Given the description of an element on the screen output the (x, y) to click on. 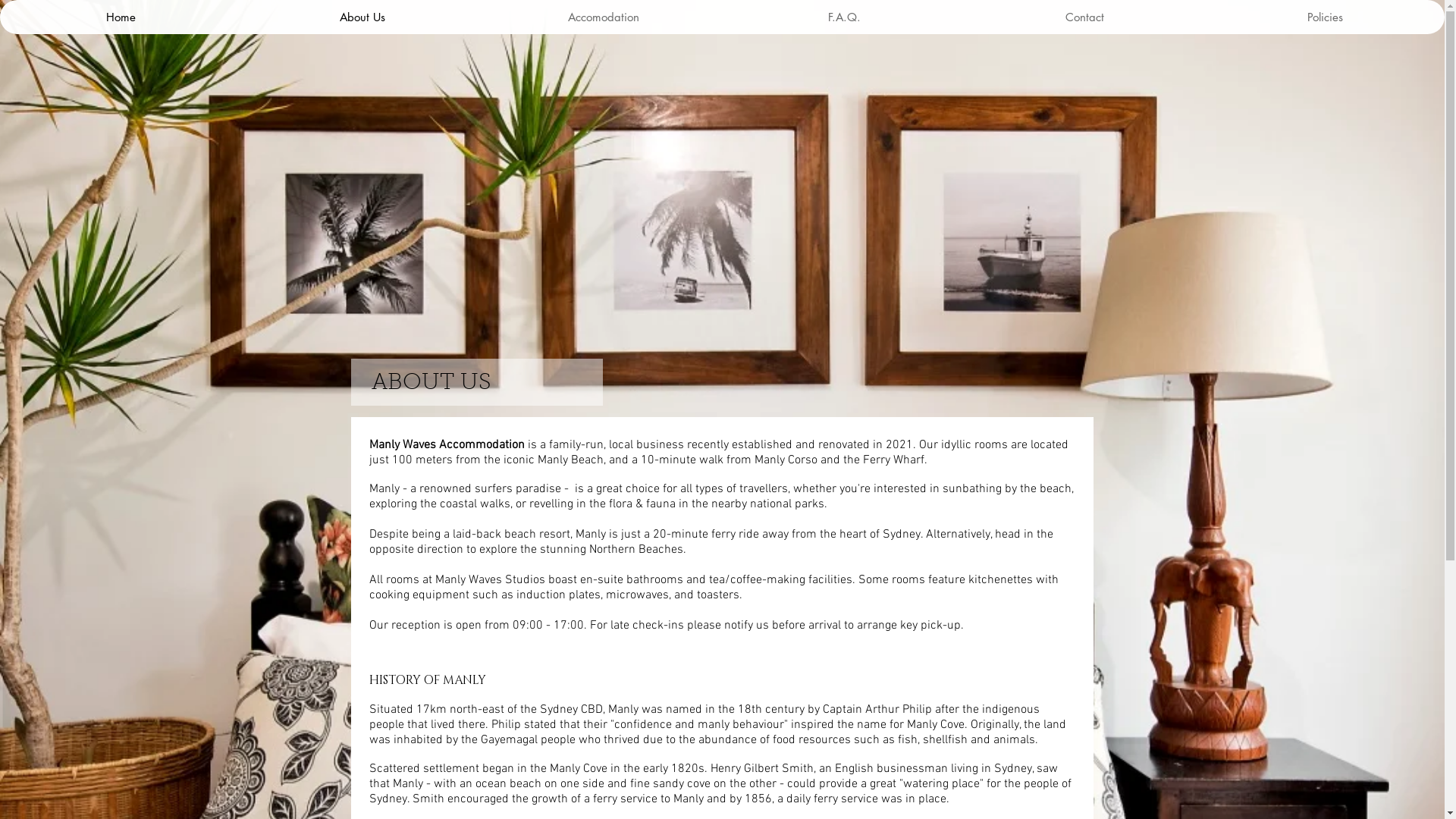
Accomodation Element type: text (602, 17)
Home Element type: text (120, 17)
Policies Element type: text (1324, 17)
Contact Element type: text (1083, 17)
About Us Element type: text (361, 17)
F.A.Q. Element type: text (843, 17)
